Given the description of an element on the screen output the (x, y) to click on. 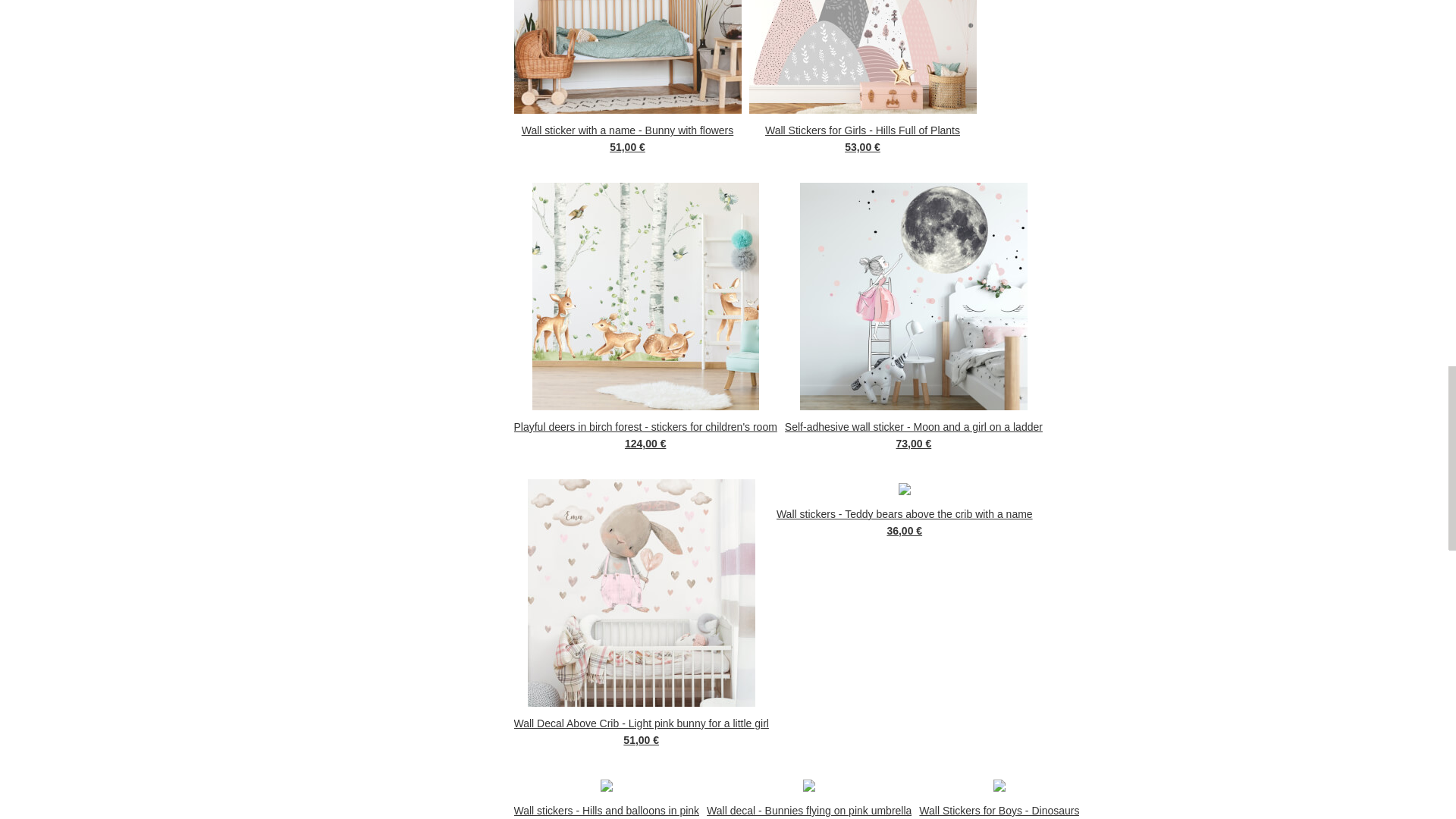
Playful deers in birch forest - stickers for children's room (645, 425)
Wall stickers - Hills and balloons in pink (606, 809)
Wall Decal Above Crib - Light pink bunny for a little girl (640, 722)
Wall decal - Bunnies flying on pink umbrella (808, 809)
Wall Stickers for Girls - Hills Full of Plants (862, 129)
Wall sticker with a name - Bunny with flowers (627, 129)
Wall Stickers for Boys - Dinosaurs (998, 809)
Wall stickers - Teddy bears above the crib with a name (904, 513)
Self-adhesive wall sticker - Moon and a girl on a ladder (913, 425)
